Given the description of an element on the screen output the (x, y) to click on. 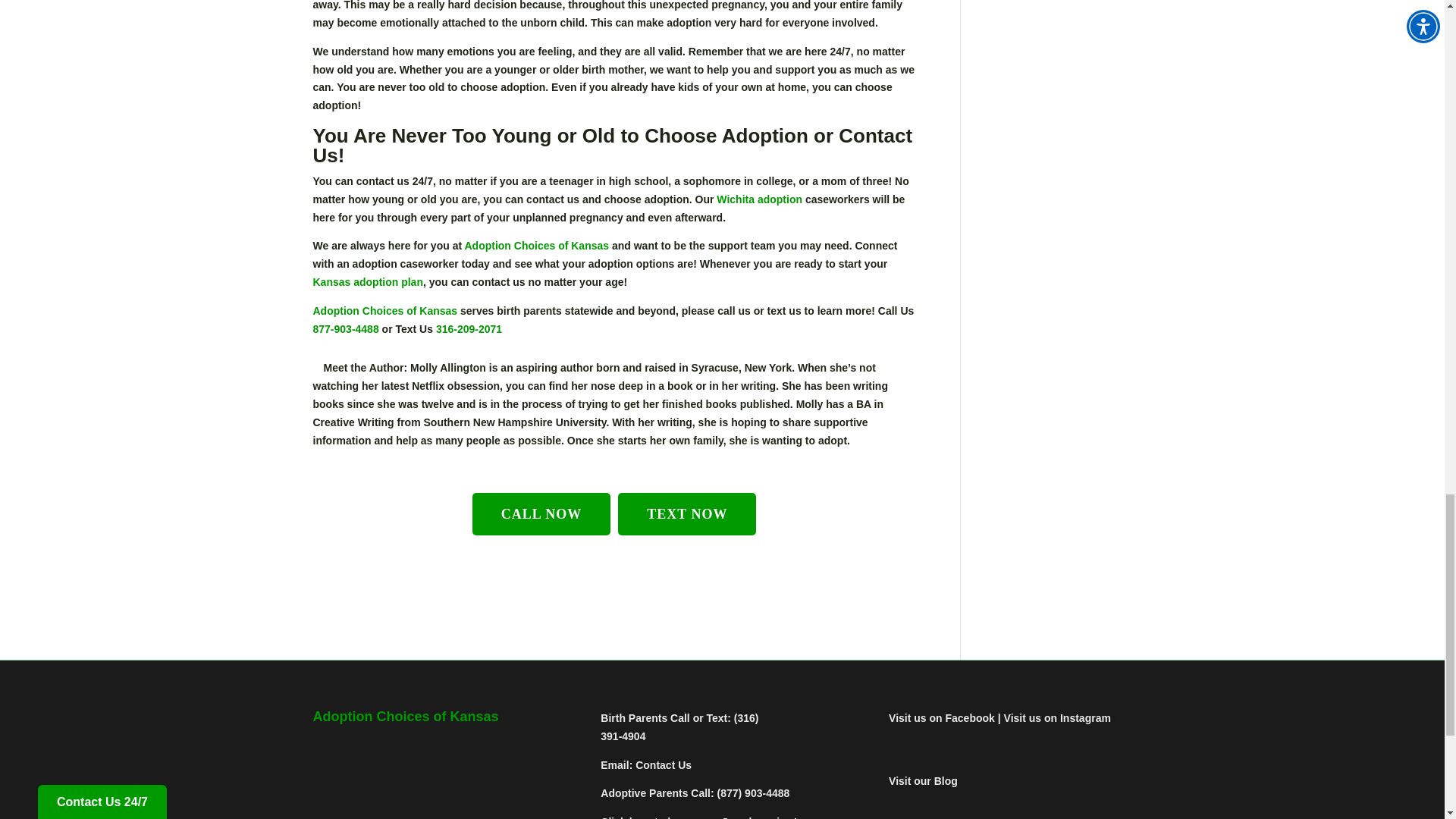
Google Map Embed (433, 775)
